Given the description of an element on the screen output the (x, y) to click on. 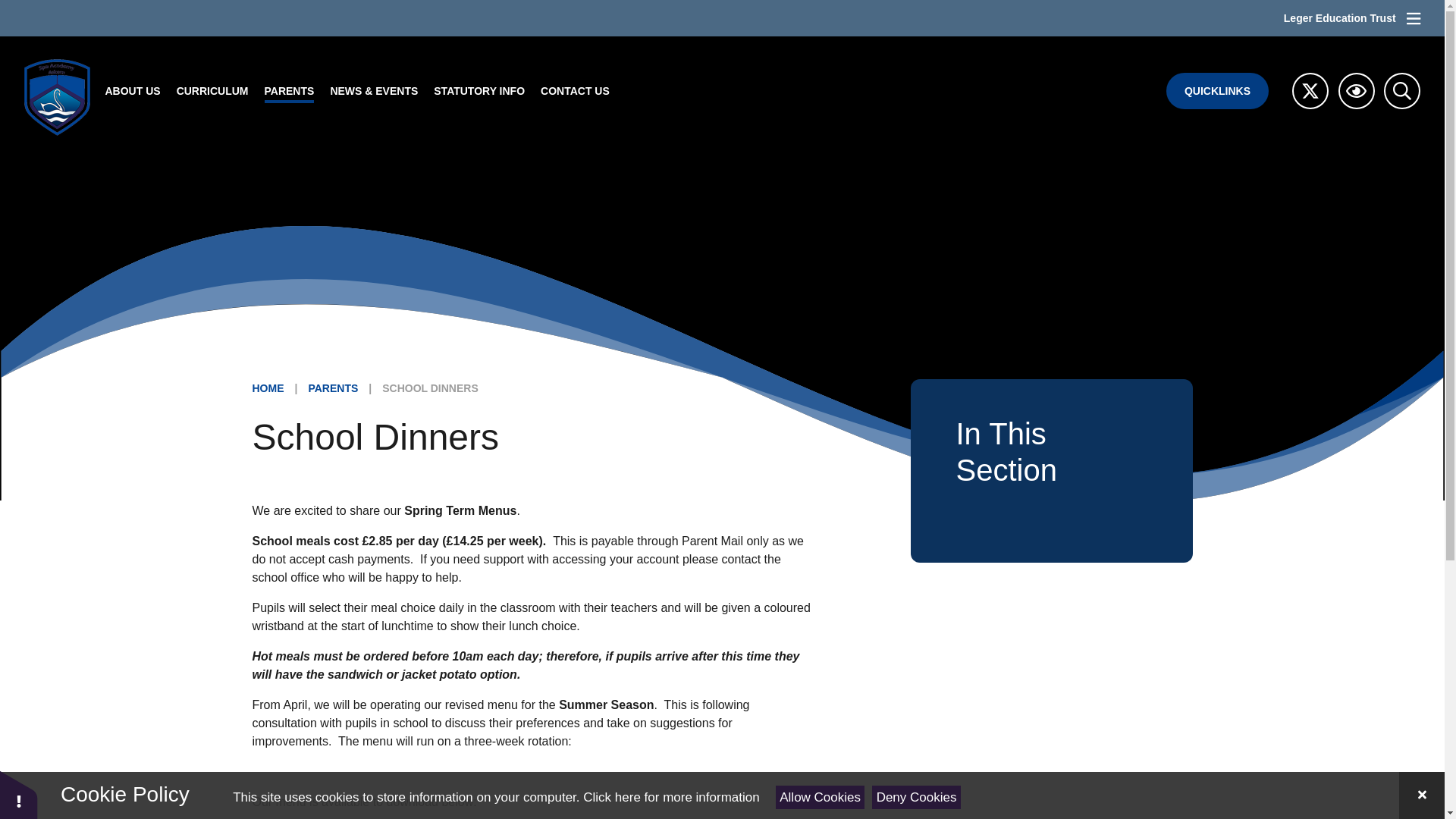
ABOUT US (132, 90)
Deny Cookies (915, 797)
See cookie policy (670, 797)
Allow Cookies (820, 797)
